Given the description of an element on the screen output the (x, y) to click on. 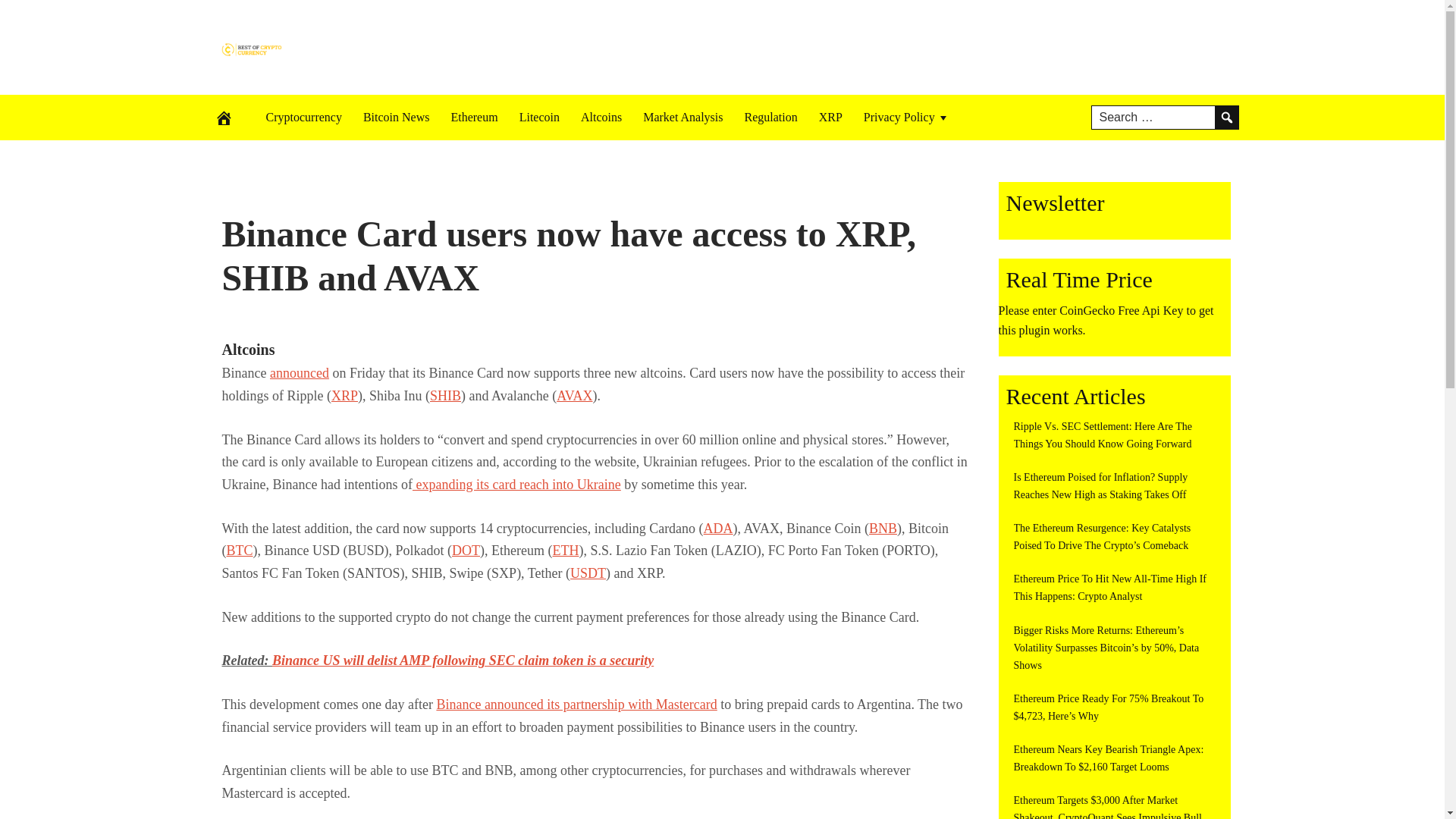
Altcoins (600, 117)
Regulation (770, 117)
XRP (830, 117)
Ethereum (473, 117)
announced (299, 372)
Cryptocurrency (303, 117)
Market Analysis (682, 117)
Altcoins (248, 349)
Bitcoin News (396, 117)
Altcoins (248, 349)
